Given the description of an element on the screen output the (x, y) to click on. 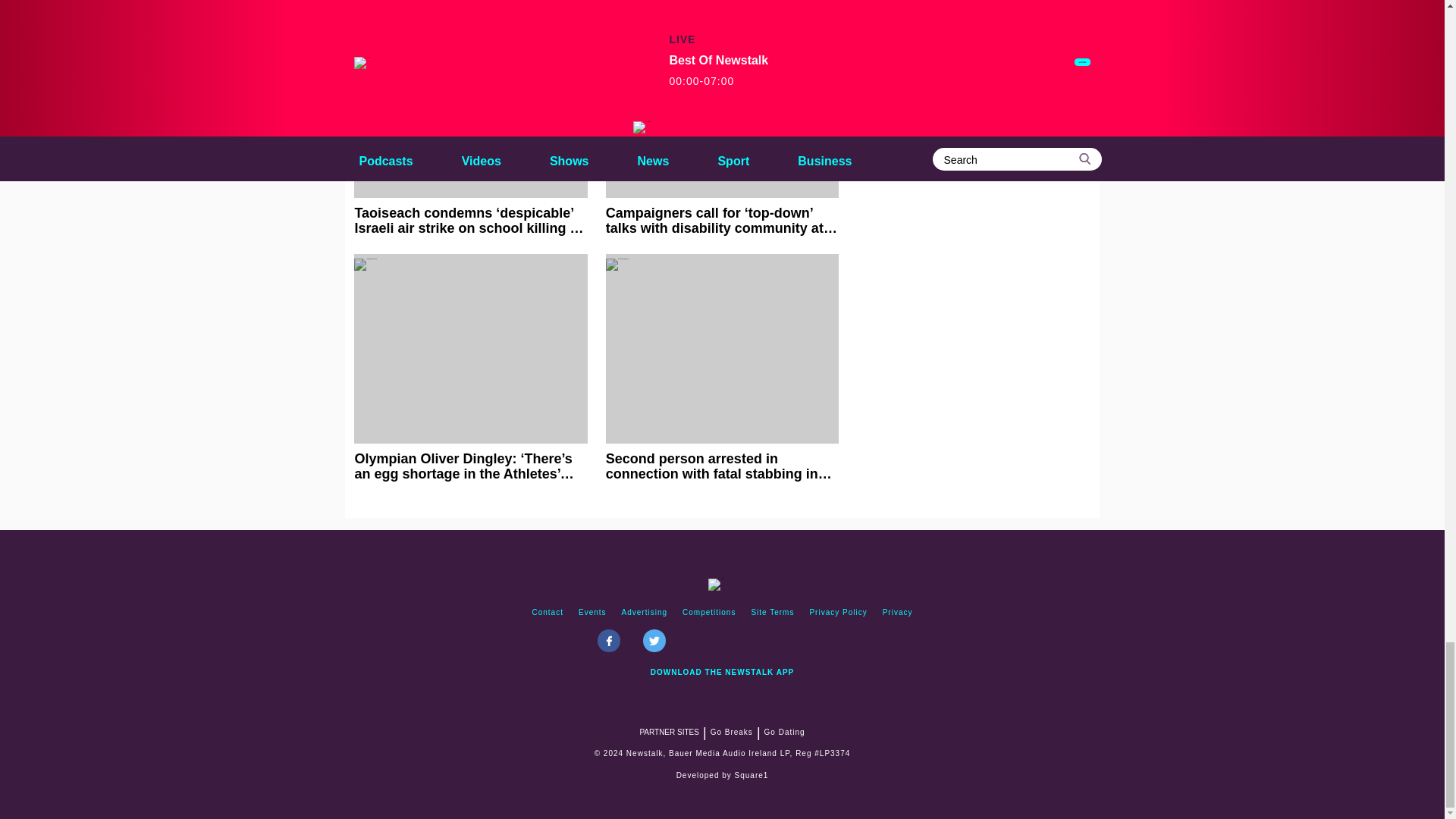
Privacy (897, 612)
events (592, 612)
contact (547, 612)
advertising (644, 612)
site terms (772, 612)
competitions (708, 612)
Privacy Policy (838, 612)
